Given the description of an element on the screen output the (x, y) to click on. 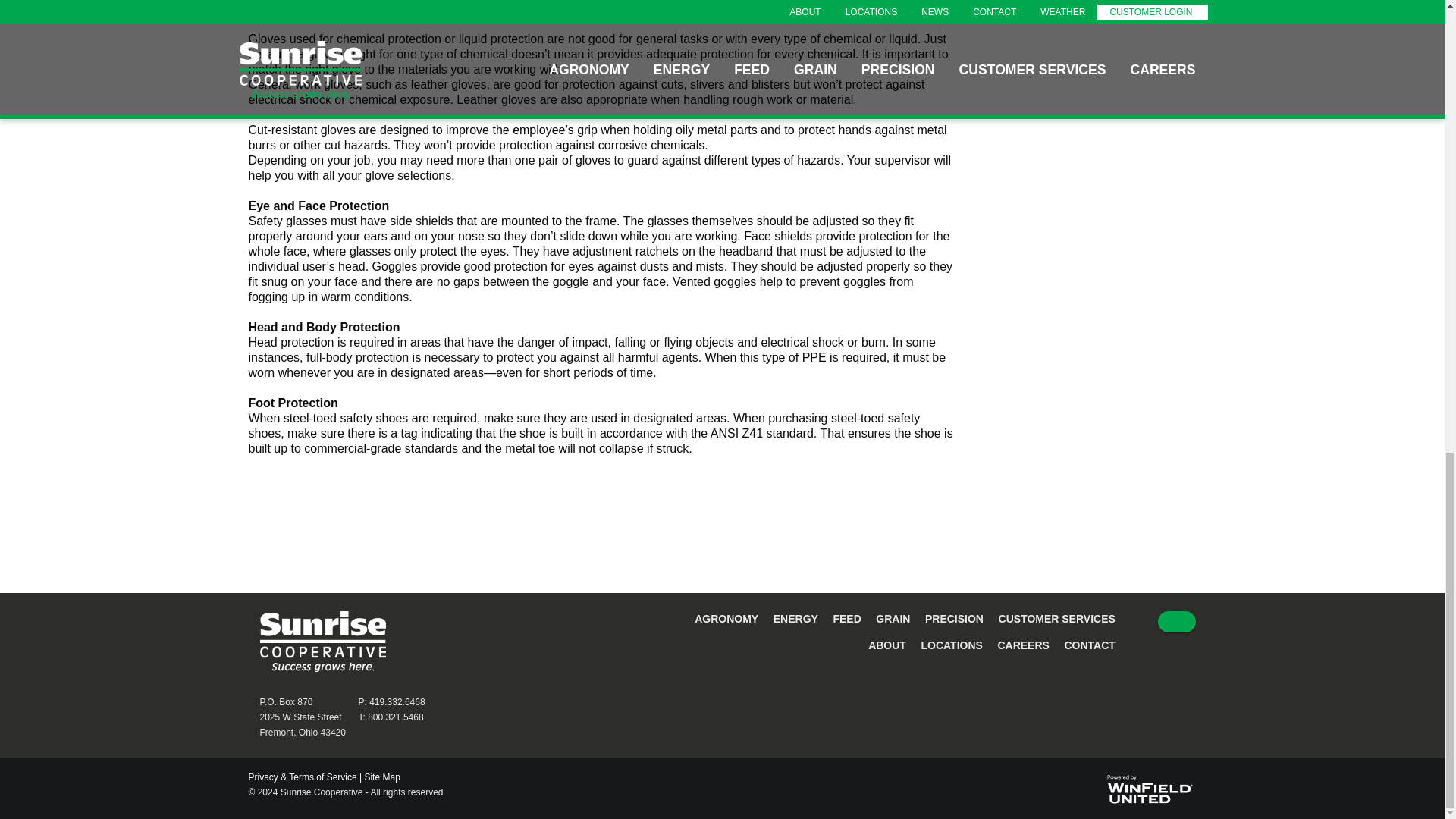
privacy (302, 777)
feed (846, 618)
grain (893, 618)
customer-services (1056, 618)
agronomy (726, 618)
site-map (381, 777)
about (886, 645)
locations (950, 645)
twitter (1176, 621)
careers (1022, 645)
